Given the description of an element on the screen output the (x, y) to click on. 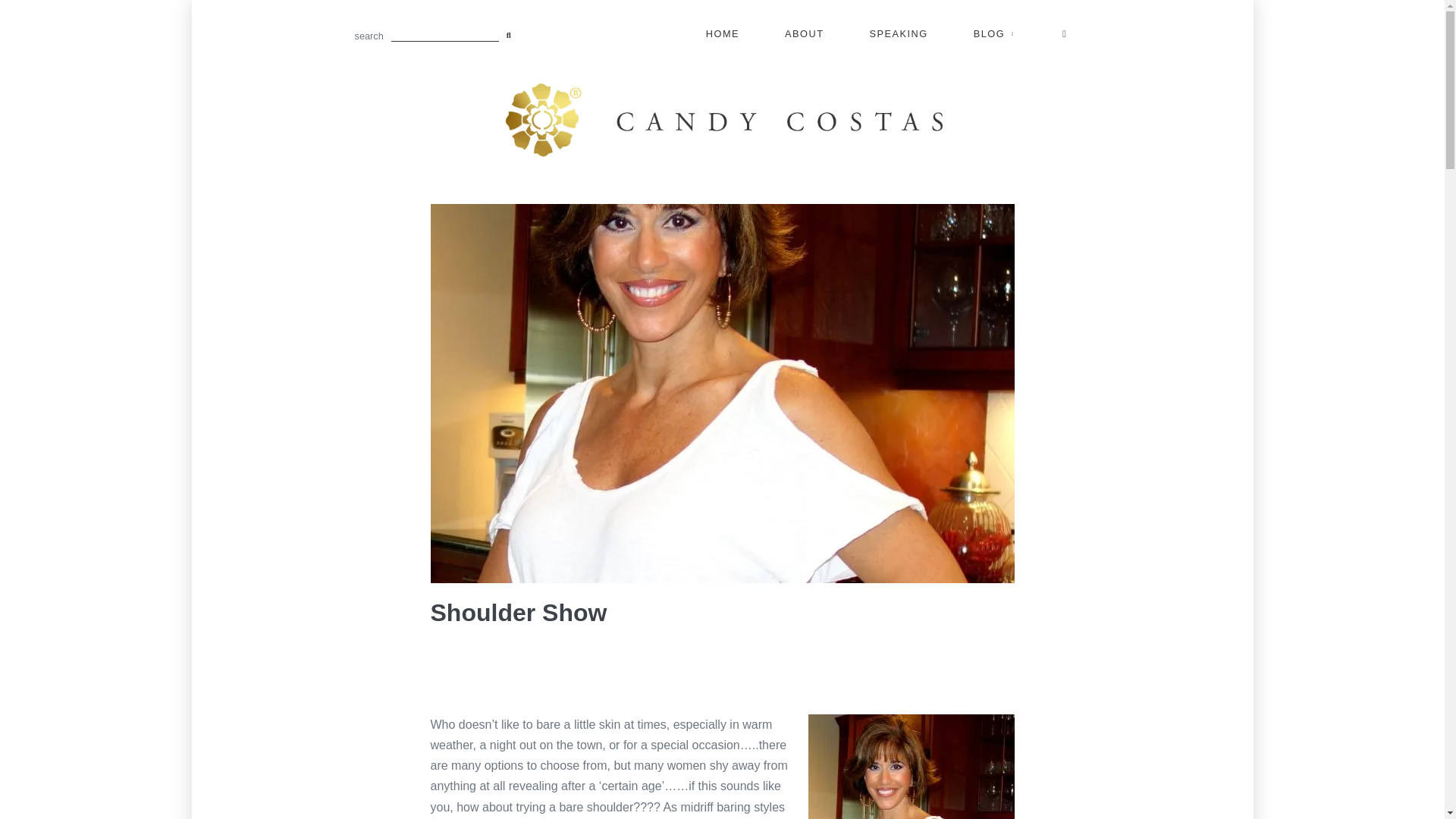
ABOUT (804, 34)
HOME (722, 34)
BLOG (995, 34)
instagram-icon (1064, 34)
candyCostas - logo (722, 119)
SPEAKING (898, 34)
